Given the description of an element on the screen output the (x, y) to click on. 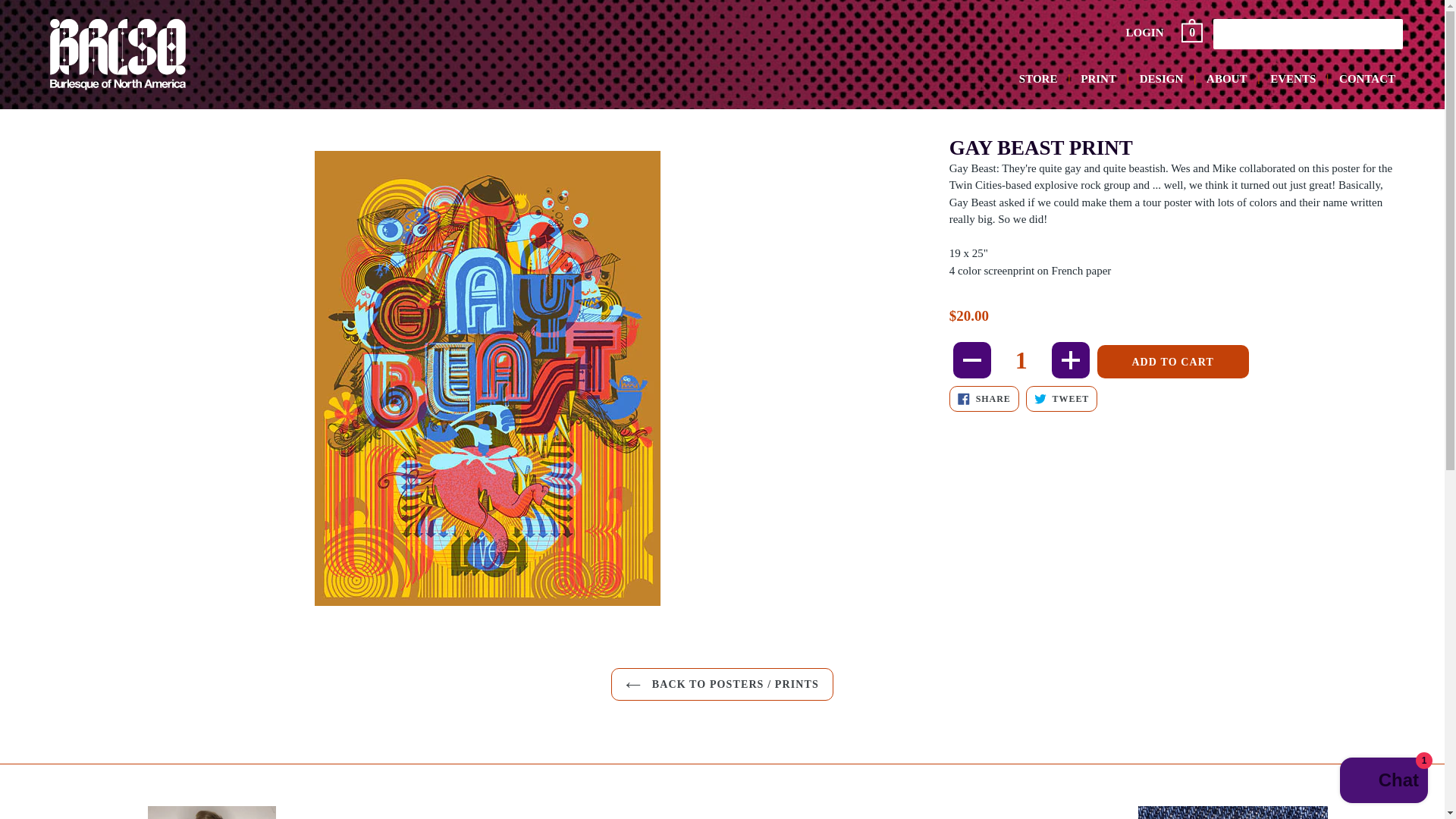
DESIGN (984, 398)
STORE (1161, 78)
Shopify online store chat (1038, 78)
EVENTS (1383, 781)
1 (1292, 78)
PRINT (1021, 360)
Share on Facebook (1098, 78)
CONTACT (984, 398)
LOGIN (1367, 78)
ABOUT (1145, 32)
Tweet on Twitter (1225, 78)
Checkout (1192, 32)
ADD TO CART (1061, 398)
